Given the description of an element on the screen output the (x, y) to click on. 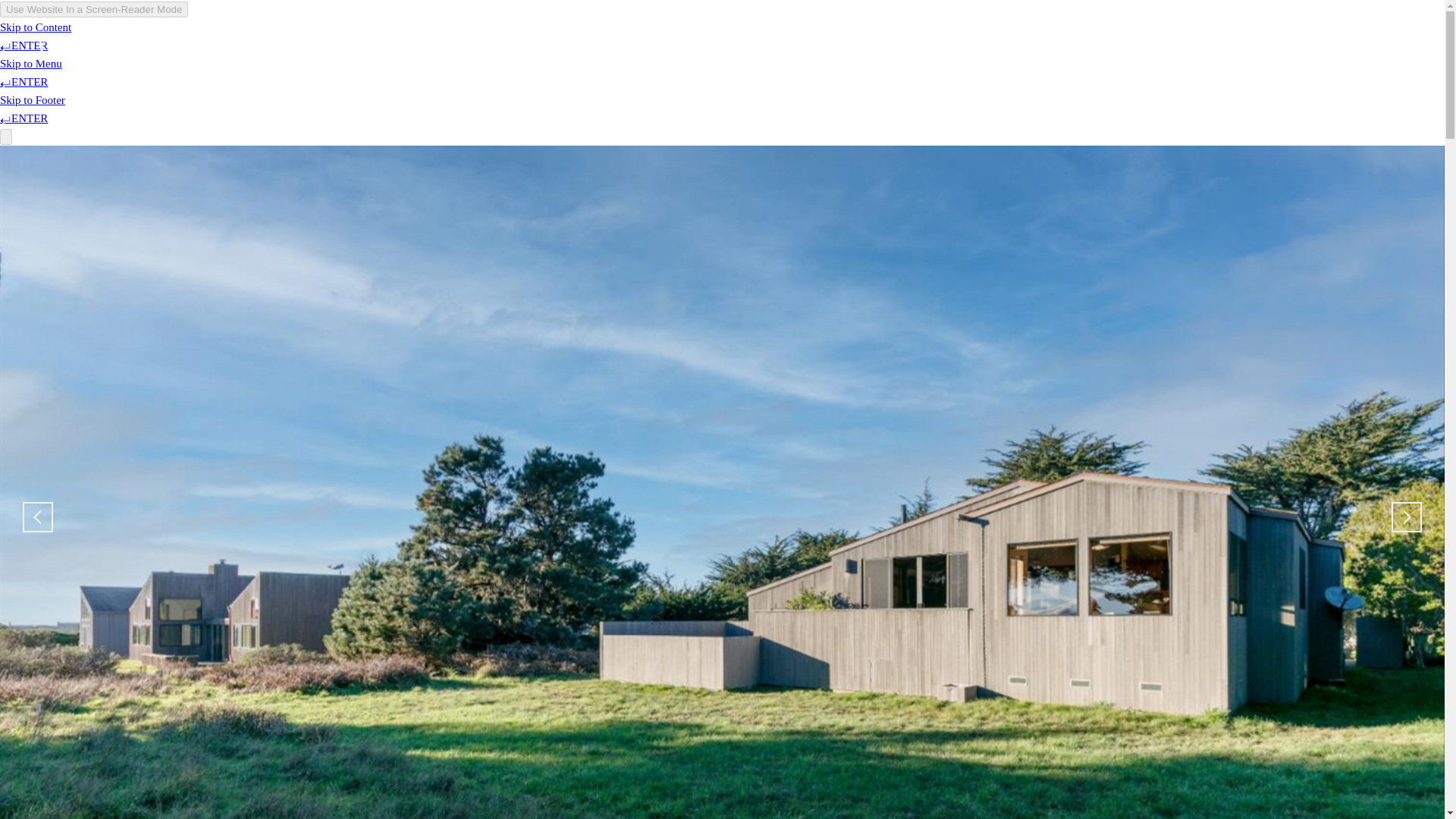
PROPERTIES (1111, 55)
Previous (37, 517)
Next (1406, 517)
COMMUNITIES (1210, 55)
MEET THE TEAM (1007, 55)
MENU (1387, 66)
CONTACT US (1309, 55)
